Given the description of an element on the screen output the (x, y) to click on. 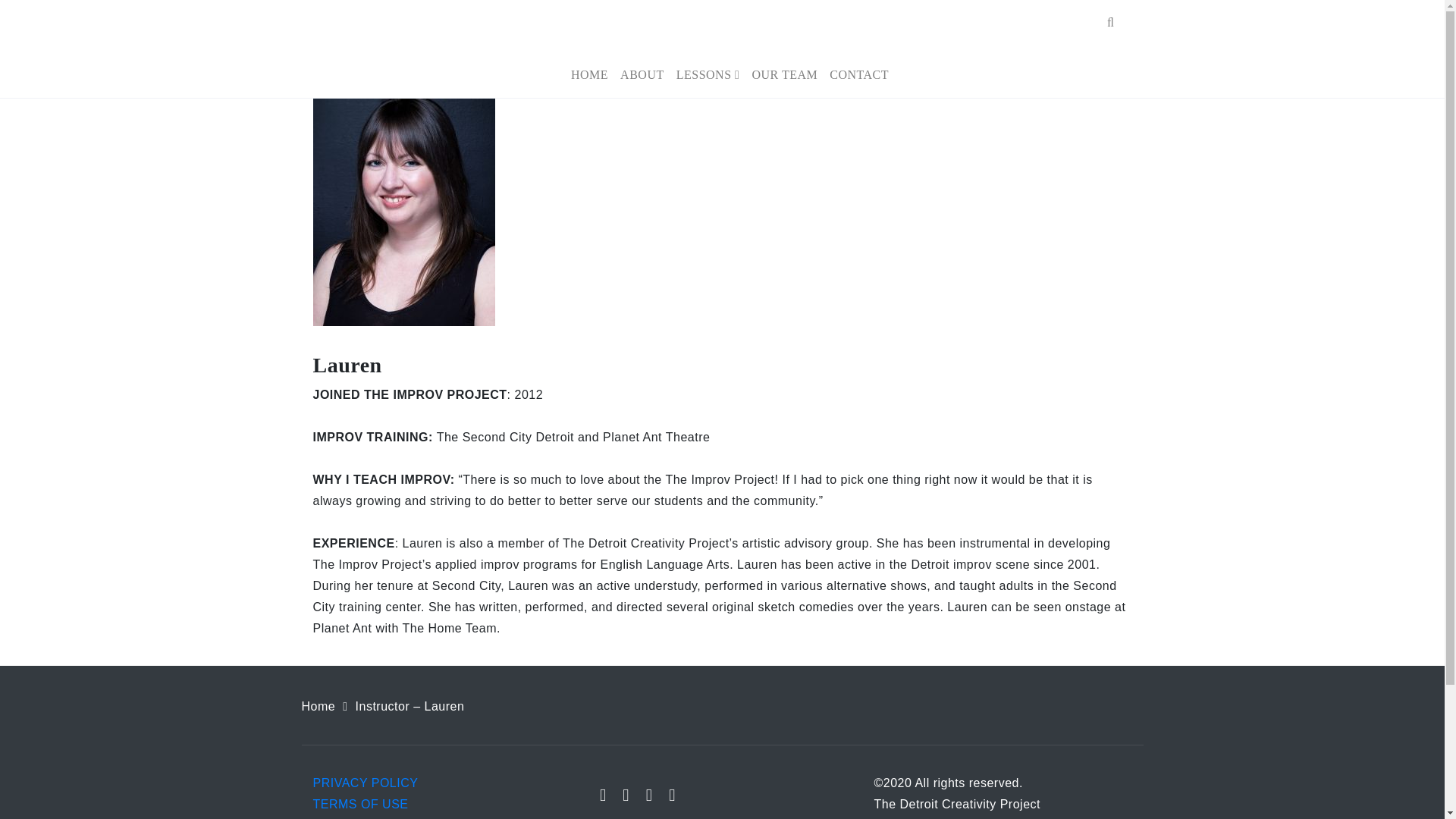
CONTACT (859, 74)
Lessons (707, 74)
OUR TEAM (784, 74)
About (641, 74)
ABOUT (641, 74)
HOME (589, 74)
Home (318, 706)
LESSONS (707, 74)
Home (589, 74)
TERMS OF USE (360, 803)
PRIVACY POLICY (365, 782)
